Given the description of an element on the screen output the (x, y) to click on. 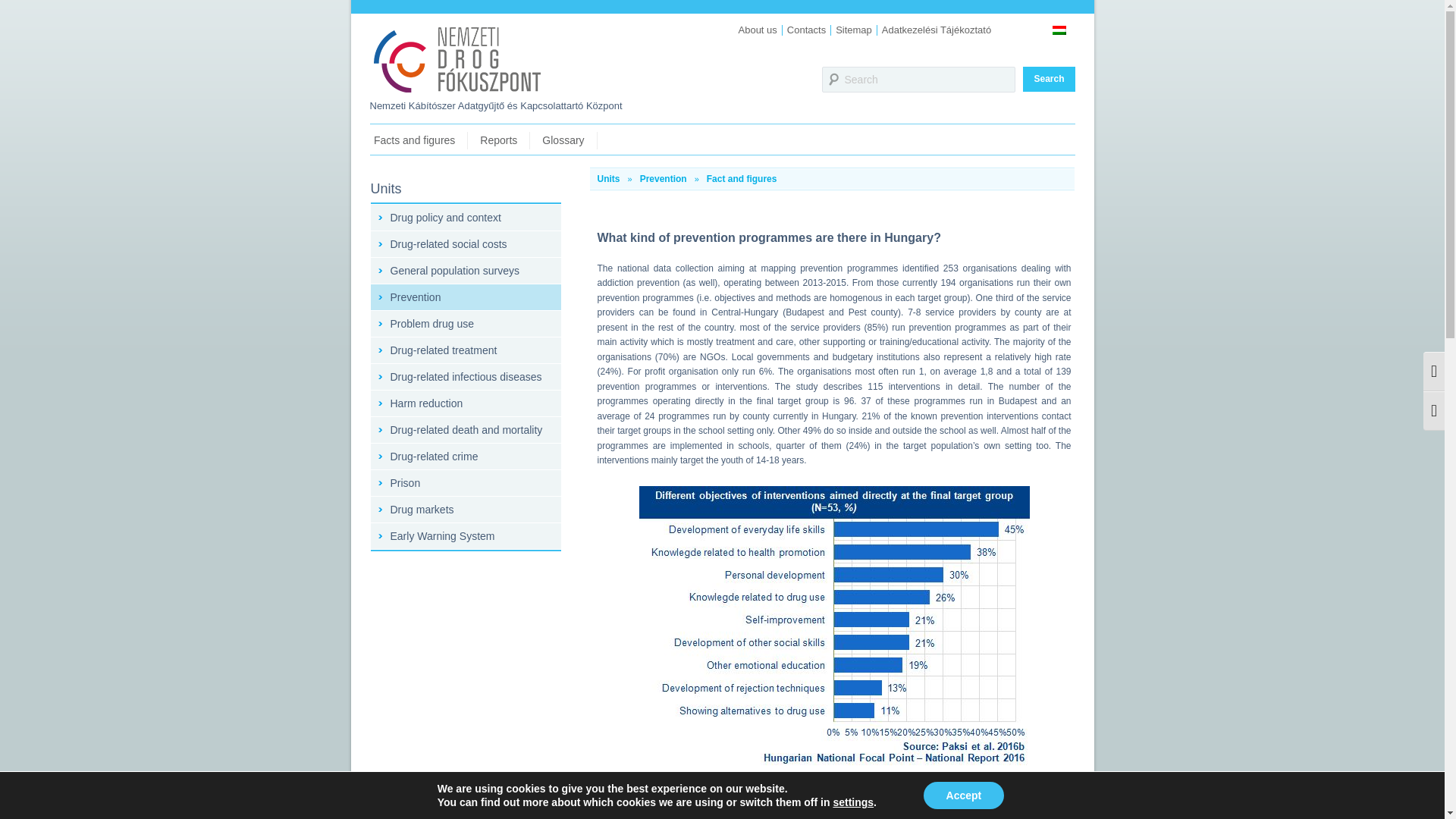
Drug-related death and mortality (464, 429)
Prison (464, 483)
Accept (963, 795)
Search (918, 79)
General population surveys (464, 270)
Harm reduction (464, 403)
Drug-related crime (464, 456)
Contacts (806, 30)
Drug-related treatment (464, 350)
Prevention (663, 178)
